Given the description of an element on the screen output the (x, y) to click on. 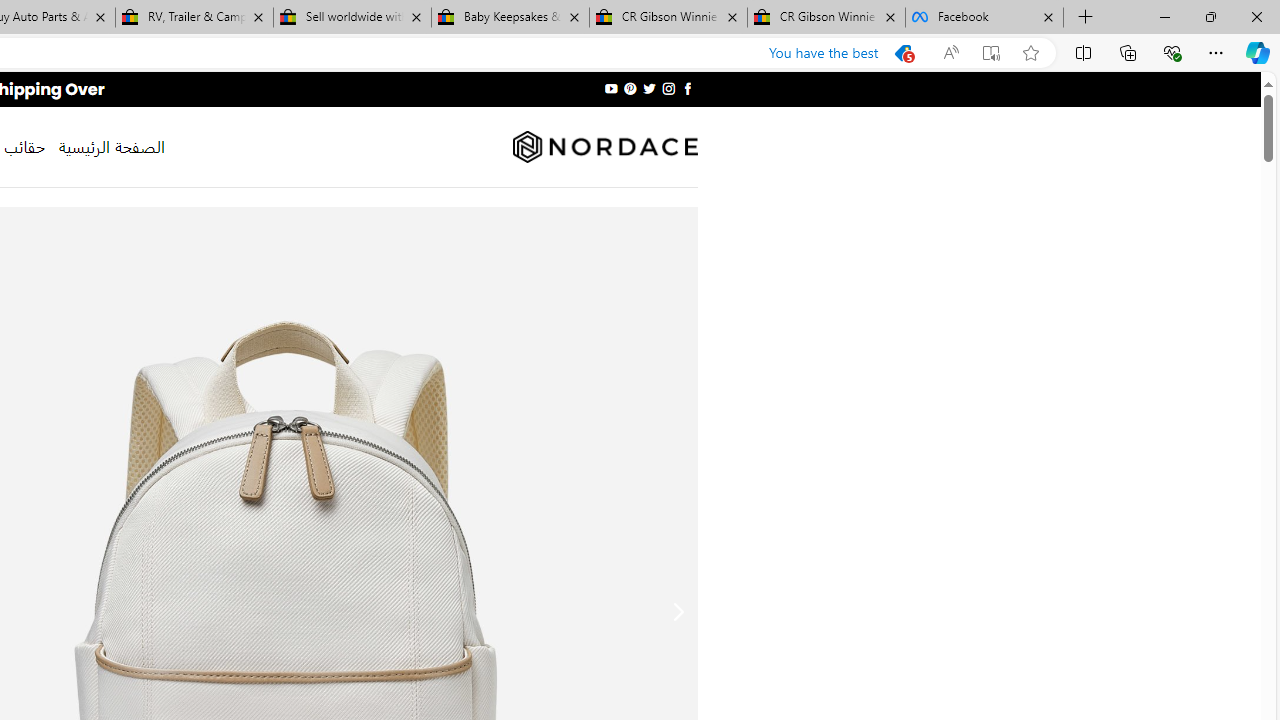
Enter Immersive Reader (F9) (991, 53)
